Given the description of an element on the screen output the (x, y) to click on. 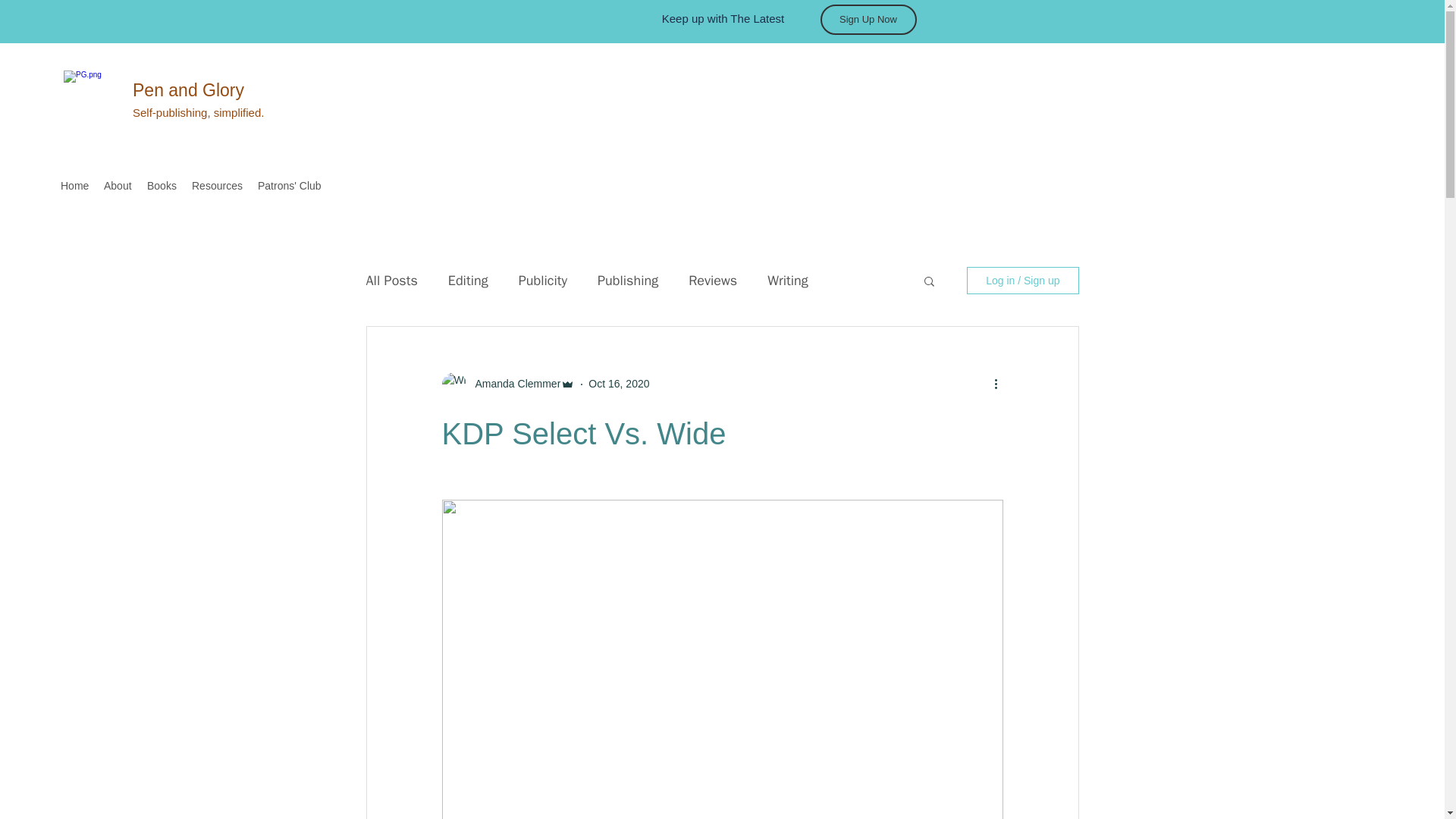
Home (74, 185)
All Posts (390, 280)
About (117, 185)
Amanda Clemmer (512, 383)
Reviews (712, 280)
Publishing (627, 280)
Writing (787, 280)
Sign Up Now (869, 19)
Books (161, 185)
Editing (467, 280)
